Given the description of an element on the screen output the (x, y) to click on. 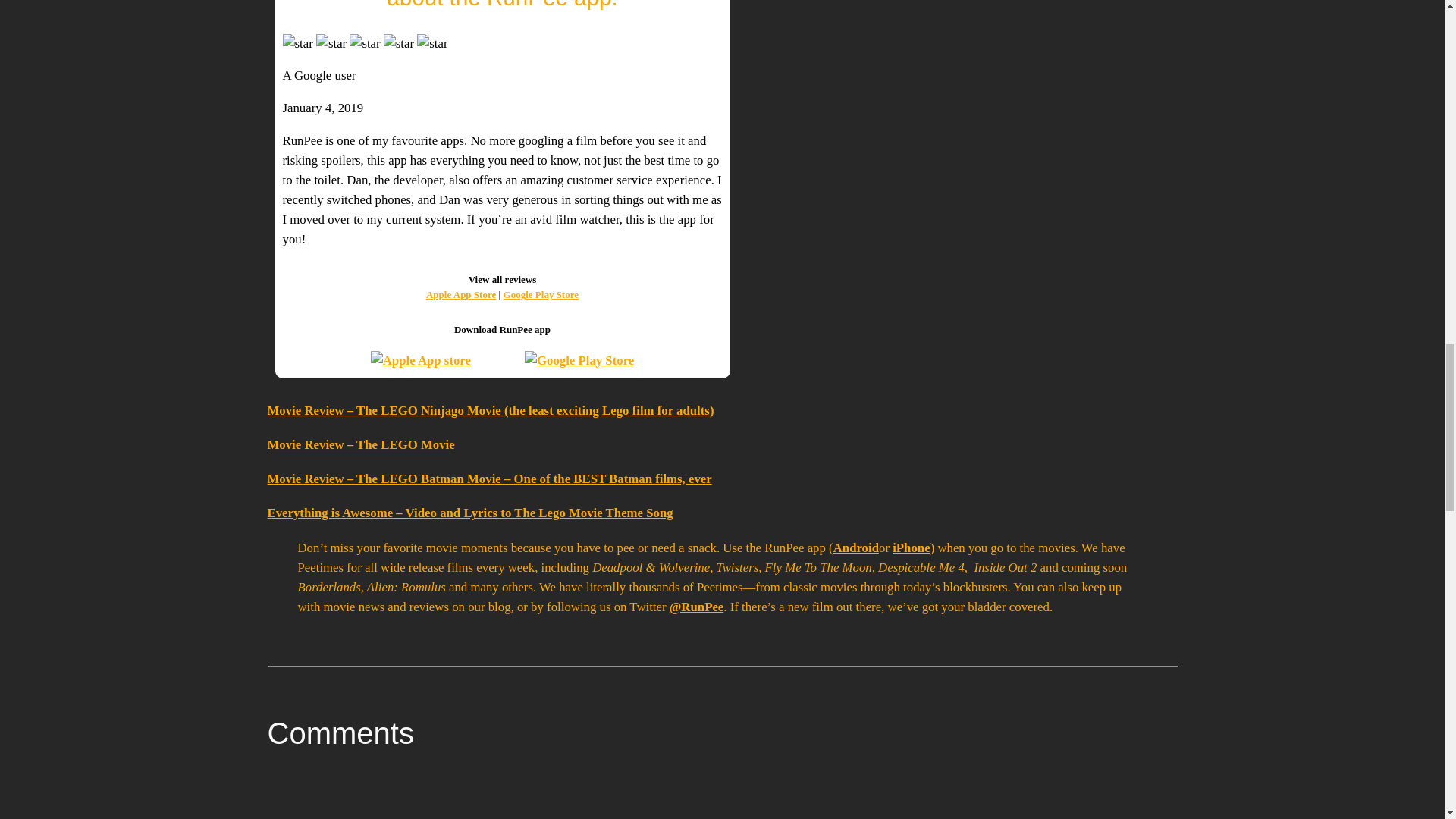
iPhone (911, 546)
Android (855, 546)
Apple App Store (461, 294)
Google Play Store (540, 294)
